Given the description of an element on the screen output the (x, y) to click on. 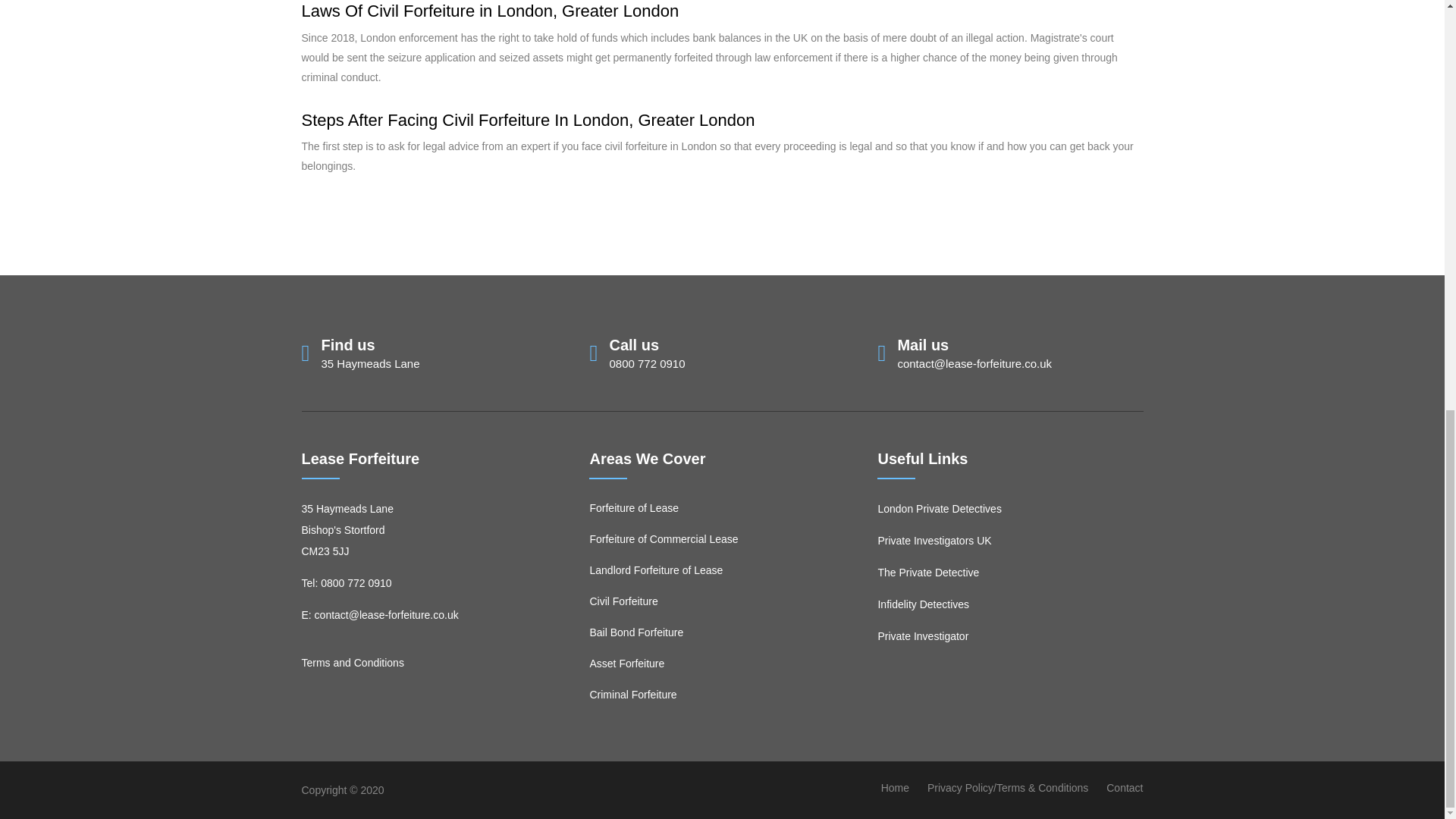
Terms and Conditions (352, 662)
The Private Detective (927, 572)
Landlord Forfeiture of Lease (655, 570)
Contact (1124, 787)
Bail Bond Forfeiture (635, 632)
Forfeiture of Commercial Lease (663, 539)
Private Investigator (922, 635)
London Private Detectives (939, 508)
Asset Forfeiture (626, 663)
Civil Forfeiture (623, 601)
